Given the description of an element on the screen output the (x, y) to click on. 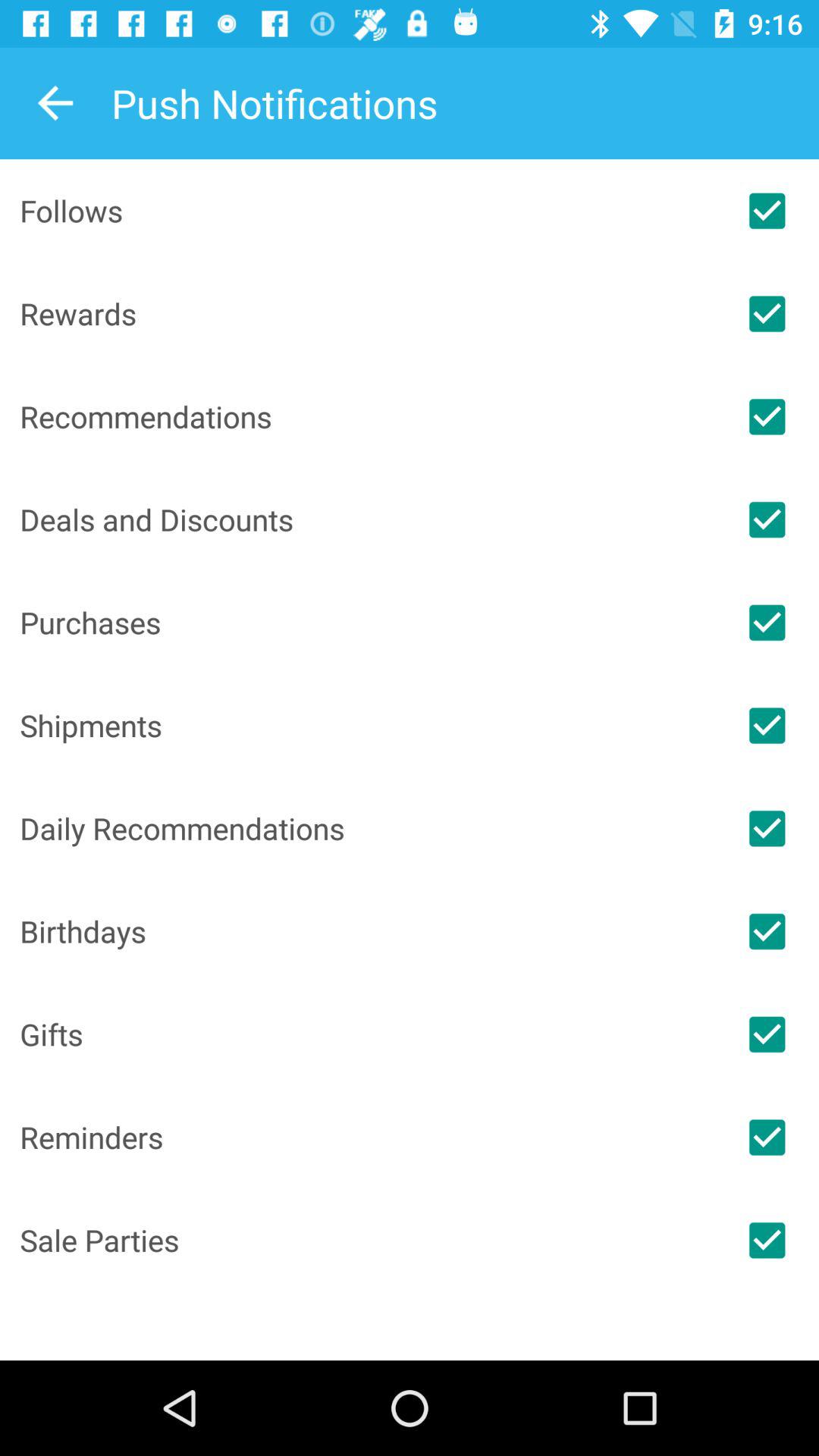
turn off icon at the top left corner (55, 103)
